Given the description of an element on the screen output the (x, y) to click on. 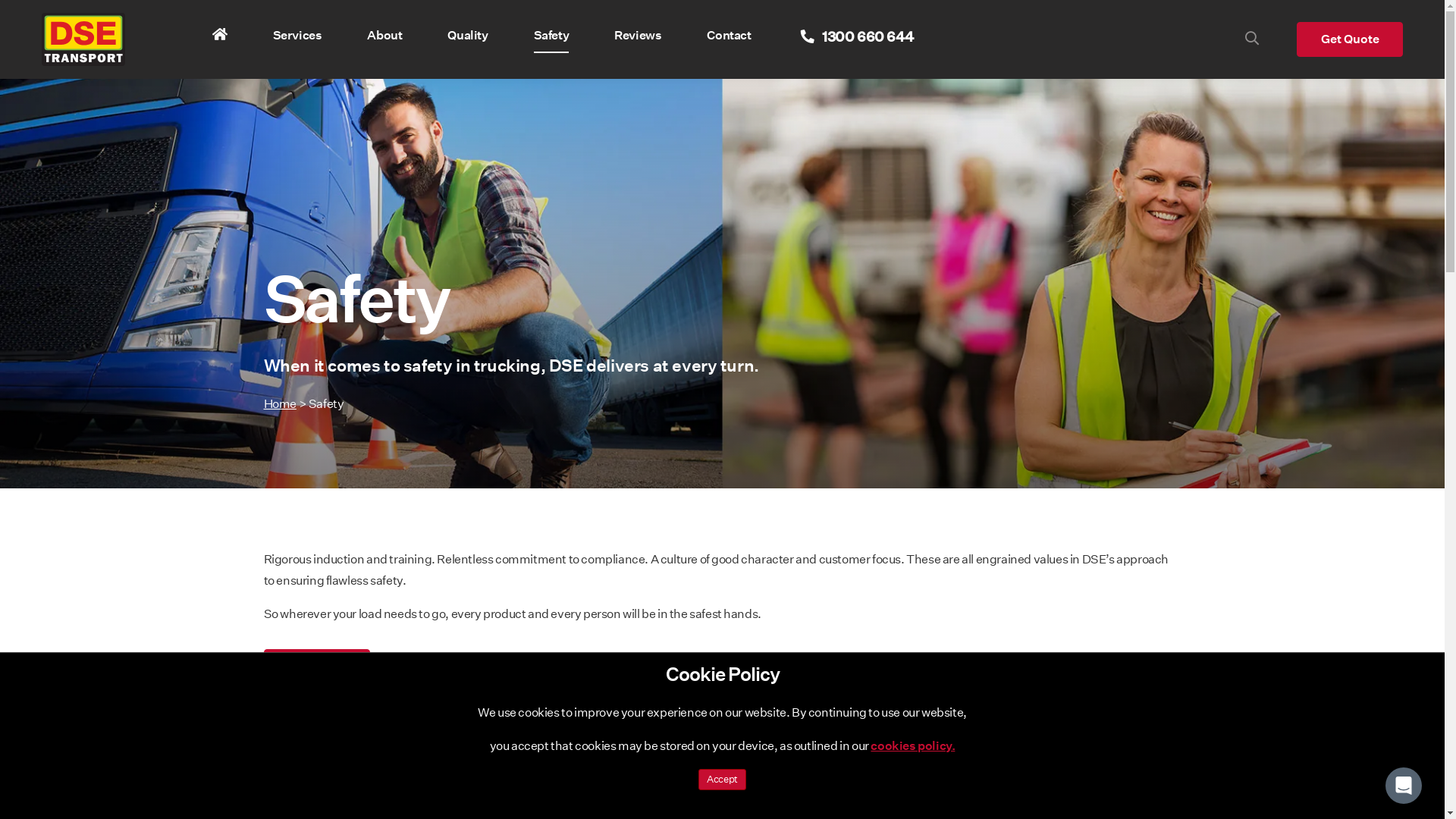
Home Element type: text (279, 403)
Safety Element type: text (551, 34)
Services Element type: text (297, 34)
Quality Element type: text (467, 34)
Get Quote Element type: text (1349, 38)
Accept Element type: text (722, 779)
Reviews Element type: text (637, 34)
cookies policy. Element type: text (912, 745)
About Element type: text (384, 34)
Contact Element type: text (728, 34)
About Us Element type: text (316, 666)
   1300 660 644 Element type: text (855, 37)
